Given the description of an element on the screen output the (x, y) to click on. 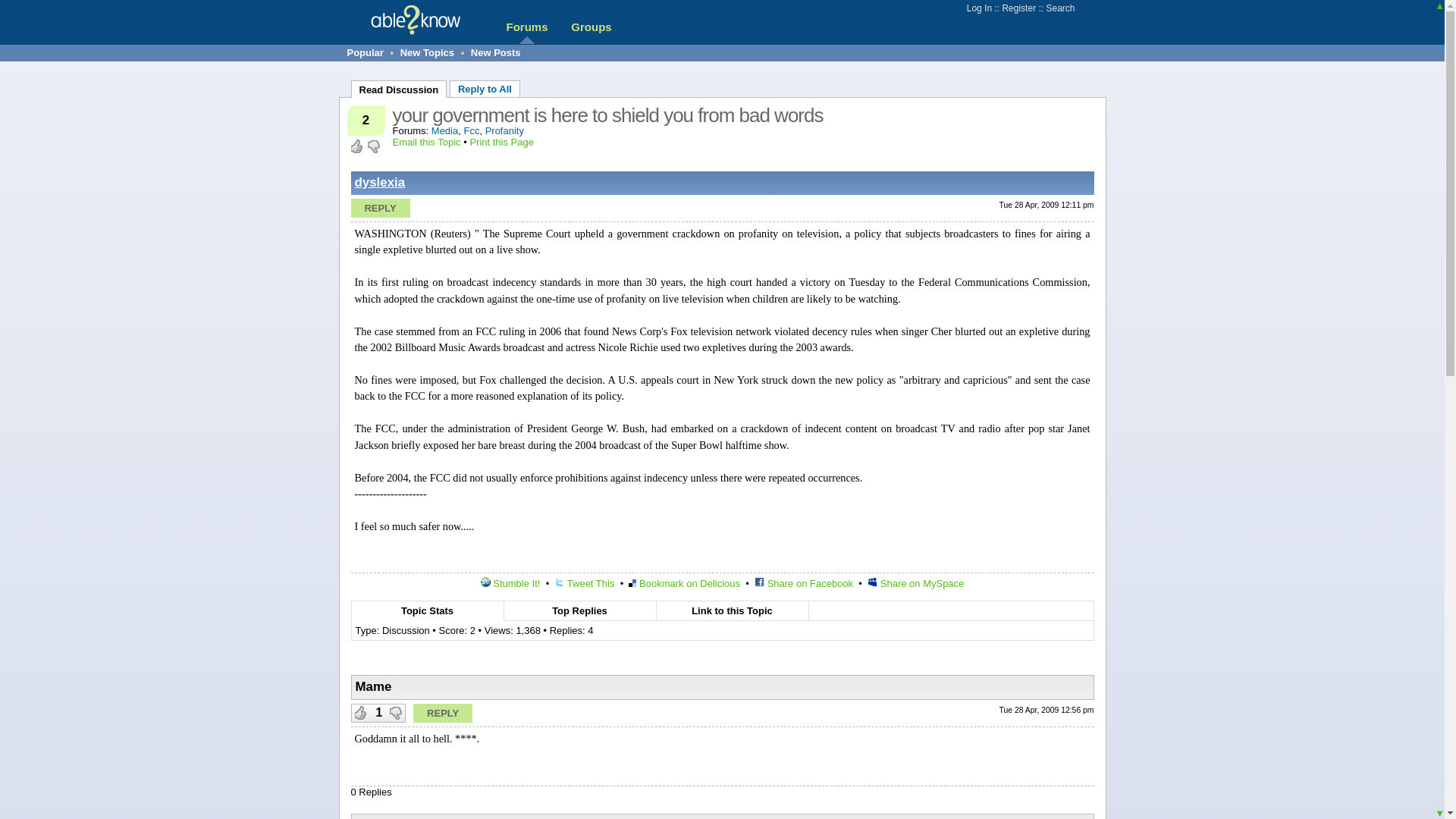
Stumble It! (510, 583)
dyslexia (380, 182)
Reply (442, 712)
Fcc (471, 130)
Reply (379, 208)
Reply to All (484, 88)
Email this Topic (427, 142)
New Posts (495, 52)
Reply to All (484, 88)
Register (1018, 8)
